Given the description of an element on the screen output the (x, y) to click on. 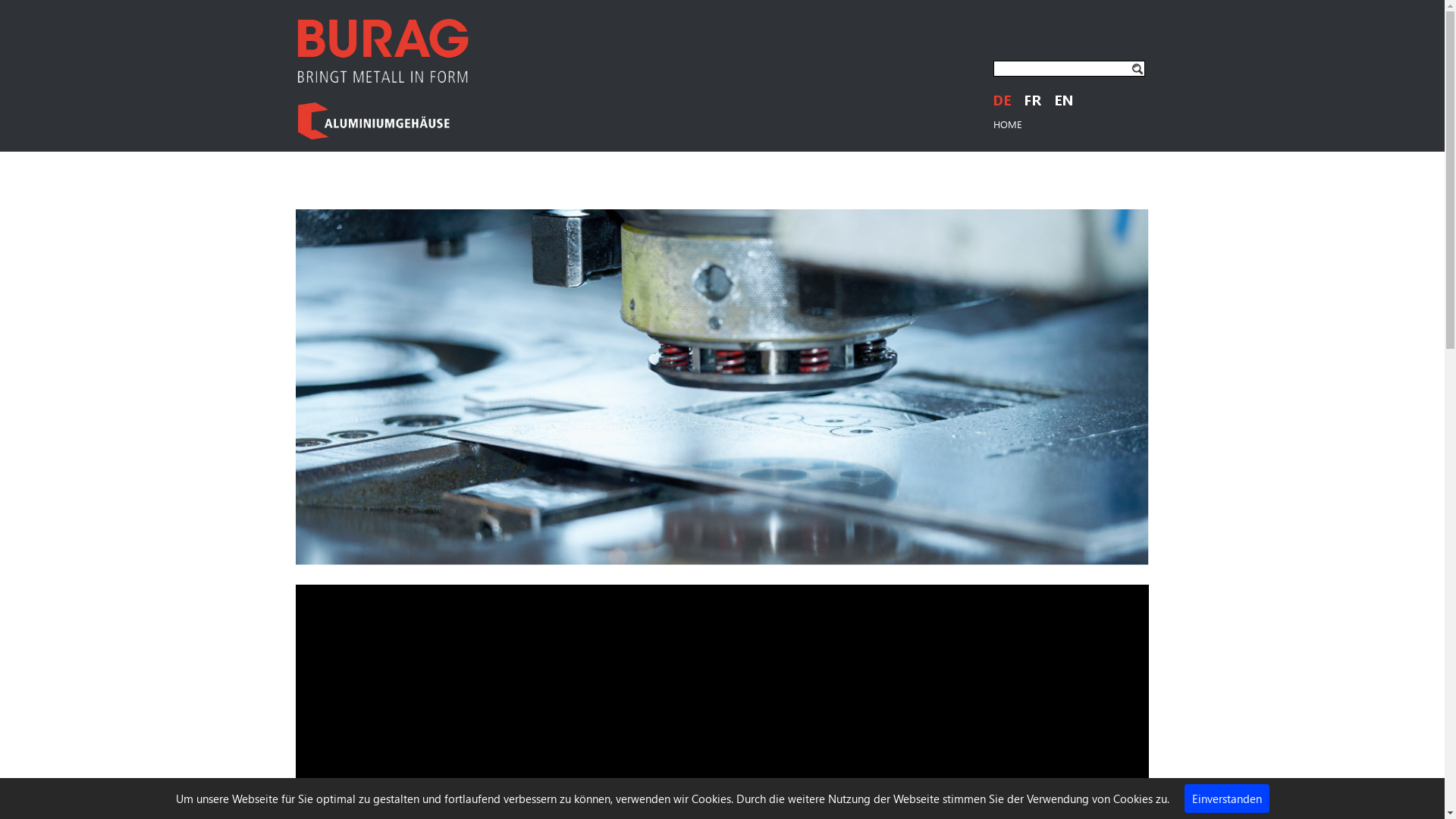
HOME Element type: text (1007, 123)
